Given the description of an element on the screen output the (x, y) to click on. 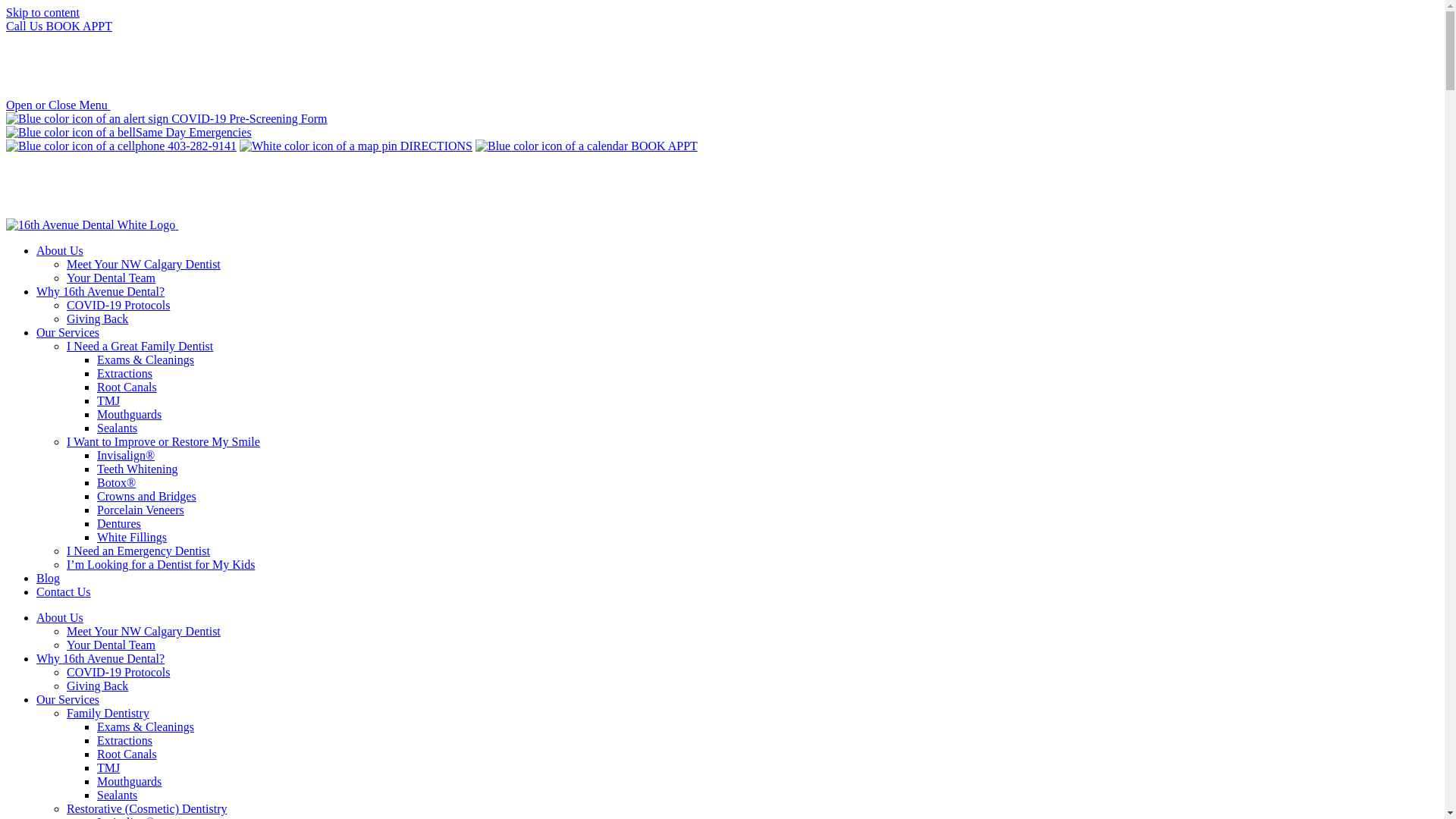
Giving Back Element type: text (97, 685)
Call Us Element type: text (25, 25)
TMJ Element type: text (108, 400)
TMJ Element type: text (108, 767)
Root Canals Element type: text (126, 386)
I Want to Improve or Restore My Smile Element type: text (163, 441)
COVID-19 Pre-Screening Form Element type: text (722, 118)
Family Dentistry Element type: text (107, 712)
Blog Element type: text (47, 577)
BOOK APPT Element type: text (586, 145)
Your Dental Team Element type: text (110, 644)
Your Dental Team Element type: text (110, 277)
Sealants Element type: text (117, 794)
COVID-19 Protocols Element type: text (117, 671)
Same Day Emergencies Element type: text (722, 132)
Why 16th Avenue Dental? Element type: text (100, 291)
Restorative (Cosmetic) Dentistry Element type: text (146, 808)
Contact Us Element type: text (63, 591)
Our Services Element type: text (67, 332)
Why 16th Avenue Dental? Element type: text (100, 658)
Mouthguards Element type: text (129, 413)
Dentures Element type: text (119, 523)
BOOK APPT Element type: text (78, 25)
I Need an Emergency Dentist Element type: text (138, 550)
I Need a Great Family Dentist Element type: text (139, 345)
COVID-19 Protocols Element type: text (117, 304)
Teeth Whitening Element type: text (137, 468)
DIRECTIONS Element type: text (355, 145)
Giving Back Element type: text (97, 318)
Skip to content Element type: text (42, 12)
Exams & Cleanings Element type: text (145, 726)
Exams & Cleanings Element type: text (145, 359)
403-282-9141 Element type: text (121, 145)
Mouthguards Element type: text (129, 781)
Meet Your NW Calgary Dentist Element type: text (143, 263)
Extractions Element type: text (124, 740)
Our Services Element type: text (67, 699)
Porcelain Veneers Element type: text (140, 509)
Crowns and Bridges Element type: text (146, 495)
Meet Your NW Calgary Dentist Element type: text (143, 630)
About Us Element type: text (59, 617)
Sealants Element type: text (117, 427)
White Fillings Element type: text (131, 536)
Extractions Element type: text (124, 373)
About Us Element type: text (59, 250)
Root Canals Element type: text (126, 753)
Open or Close Menu Element type: text (58, 104)
